Given the description of an element on the screen output the (x, y) to click on. 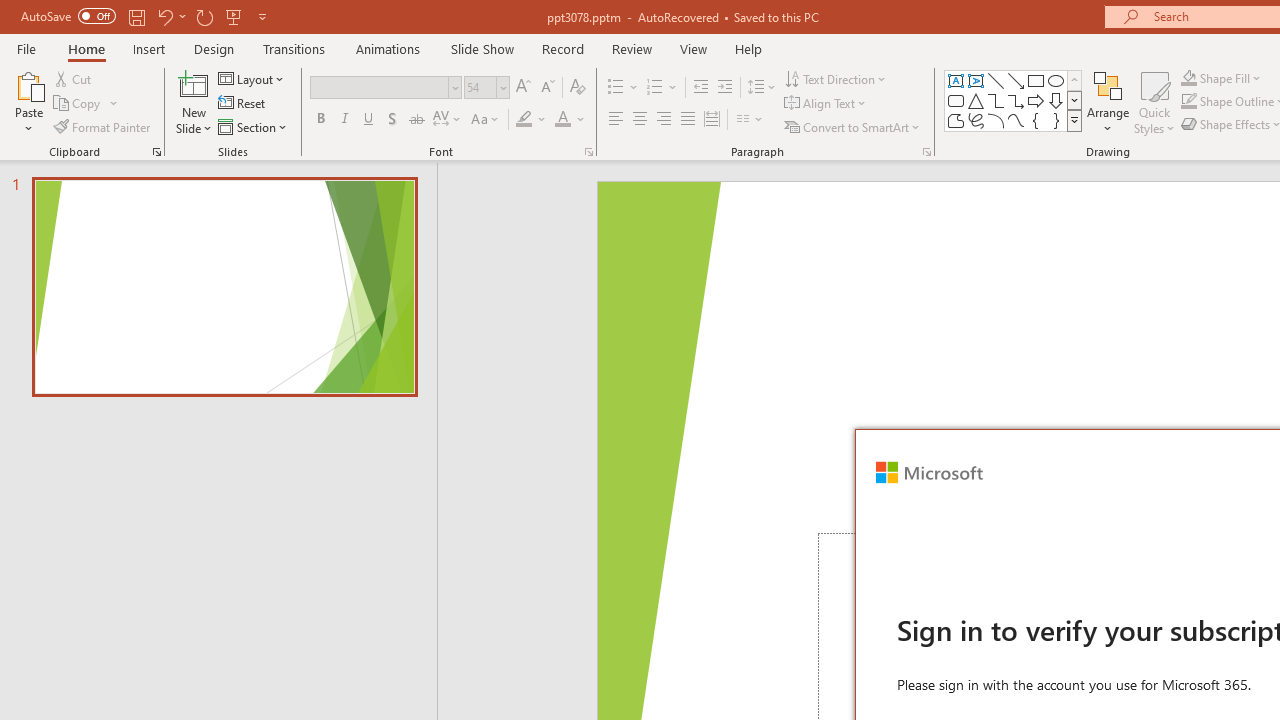
Shape Fill Dark Green, Accent 2 (1188, 78)
